Given the description of an element on the screen output the (x, y) to click on. 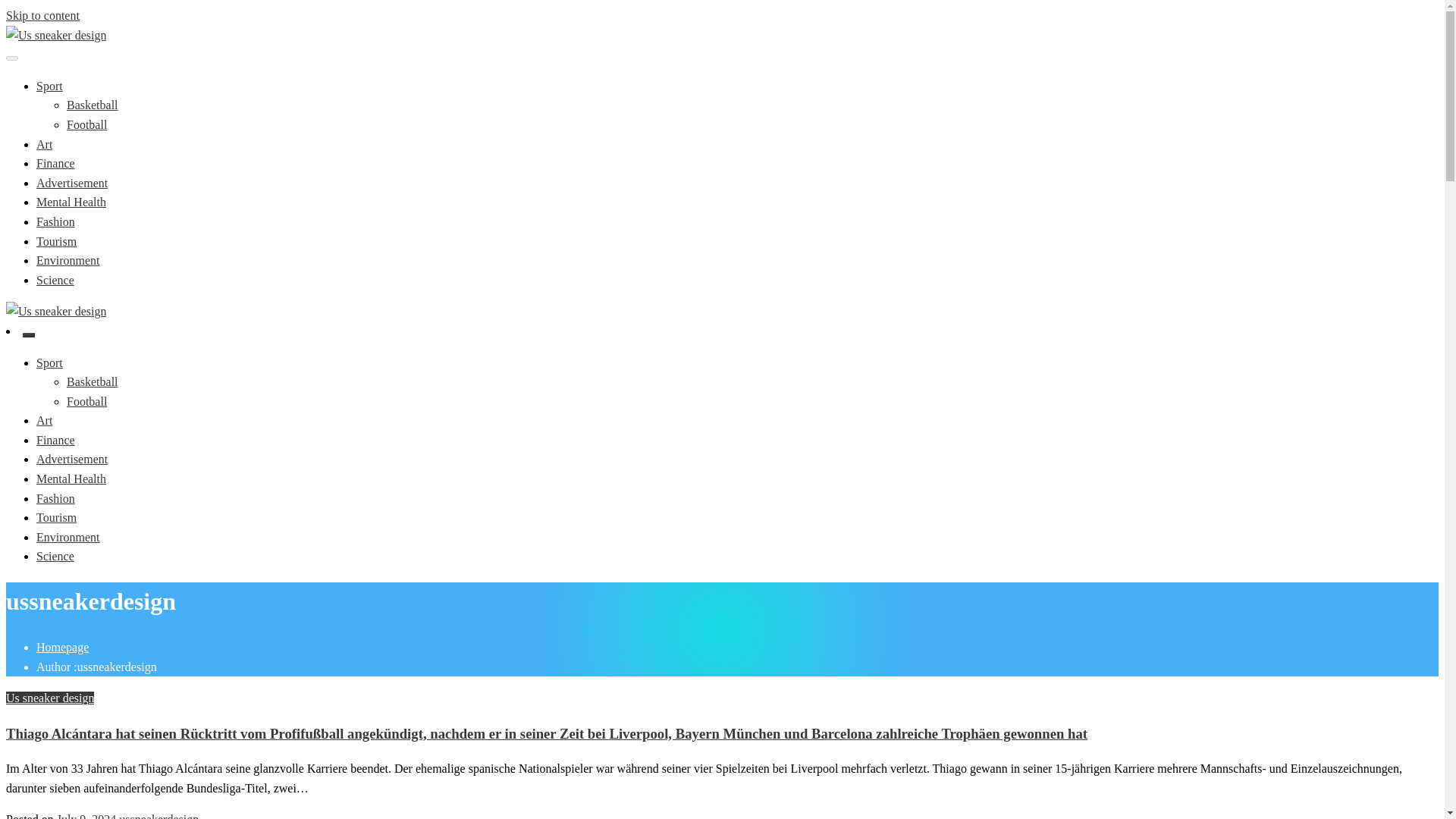
ussneakerdesign (158, 816)
ussneakerdesign (158, 816)
Basketball (91, 381)
Us sneaker design (49, 697)
Environment (68, 536)
Environment (68, 259)
Art (44, 144)
Football (86, 124)
Tourism (56, 517)
Us sneaker design (98, 80)
Science (55, 555)
Fashion (55, 498)
July 9, 2024 (86, 816)
Basketball (91, 104)
Mental Health (71, 478)
